Given the description of an element on the screen output the (x, y) to click on. 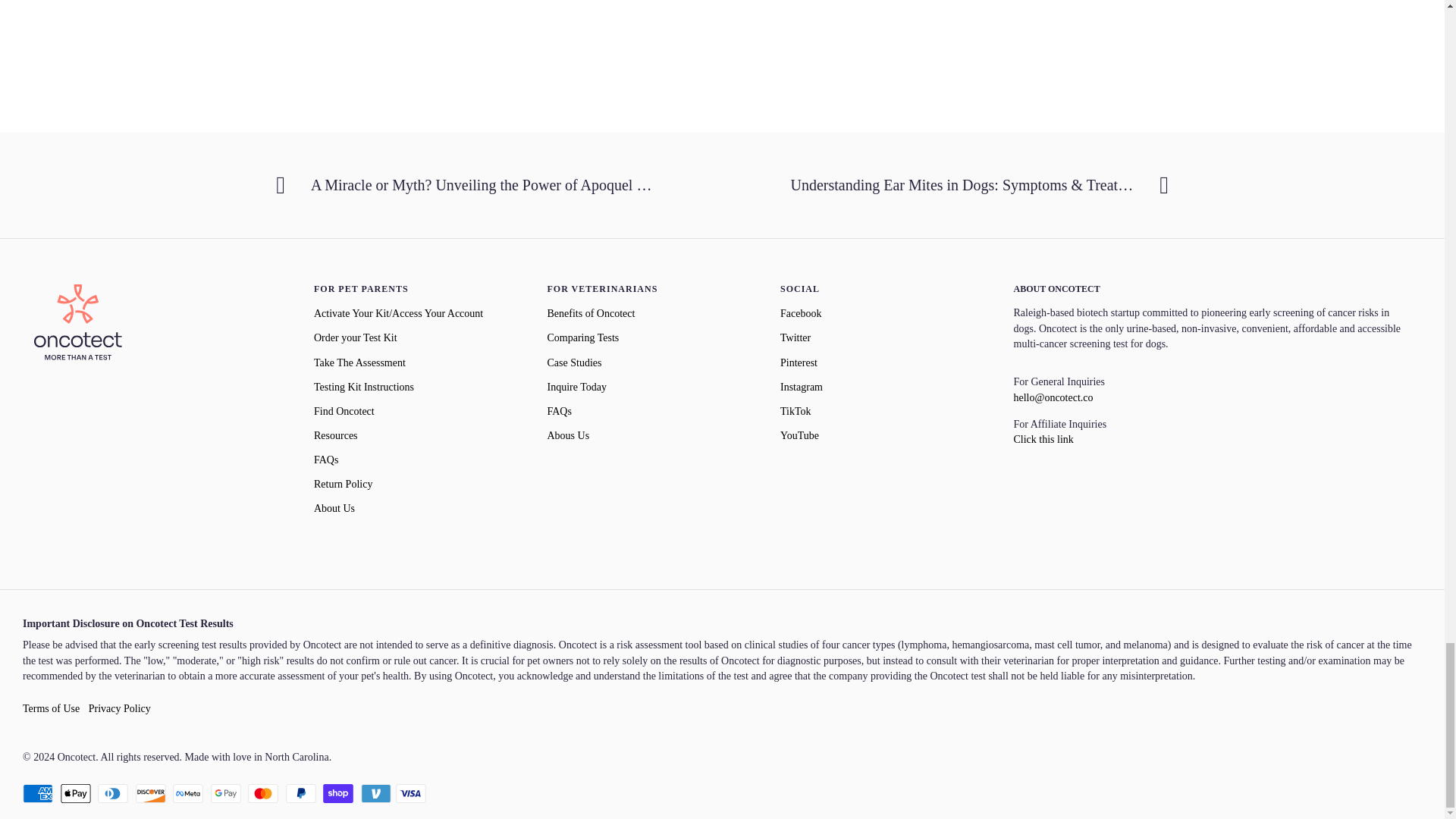
TikTok (795, 411)
Instagram (801, 387)
Shop Pay (338, 793)
American Express (37, 793)
YouTube (799, 435)
Google Pay (226, 793)
Apple Pay (75, 793)
Pinterest (798, 363)
Visa (411, 793)
Diners Club (112, 793)
